Given the description of an element on the screen output the (x, y) to click on. 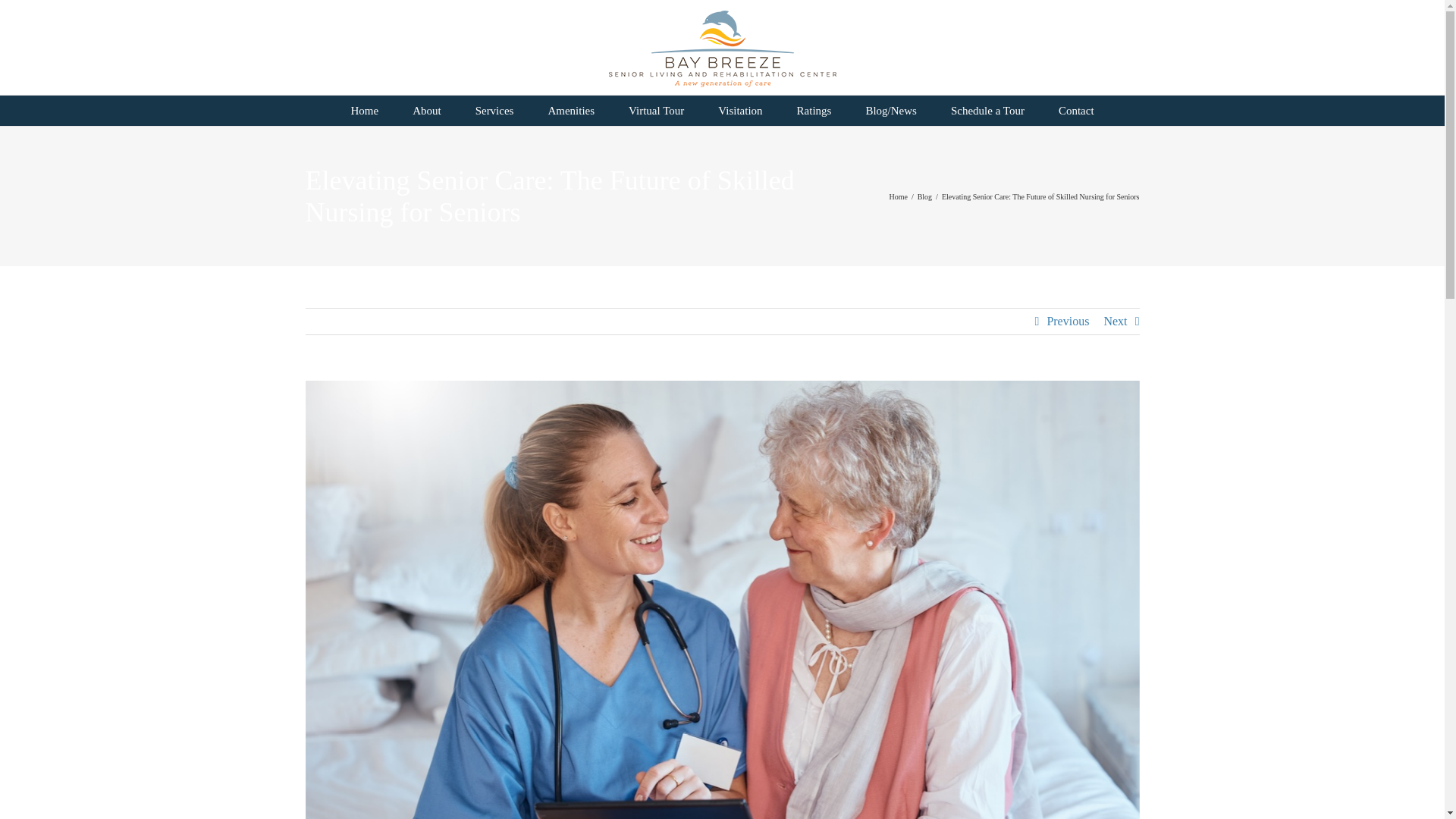
Home (364, 110)
Visitation (739, 110)
Home (897, 196)
Blog (924, 196)
Amenities (571, 110)
About (427, 110)
Schedule a Tour (987, 110)
Next (1114, 321)
Services (494, 110)
Previous (1067, 321)
